Given the description of an element on the screen output the (x, y) to click on. 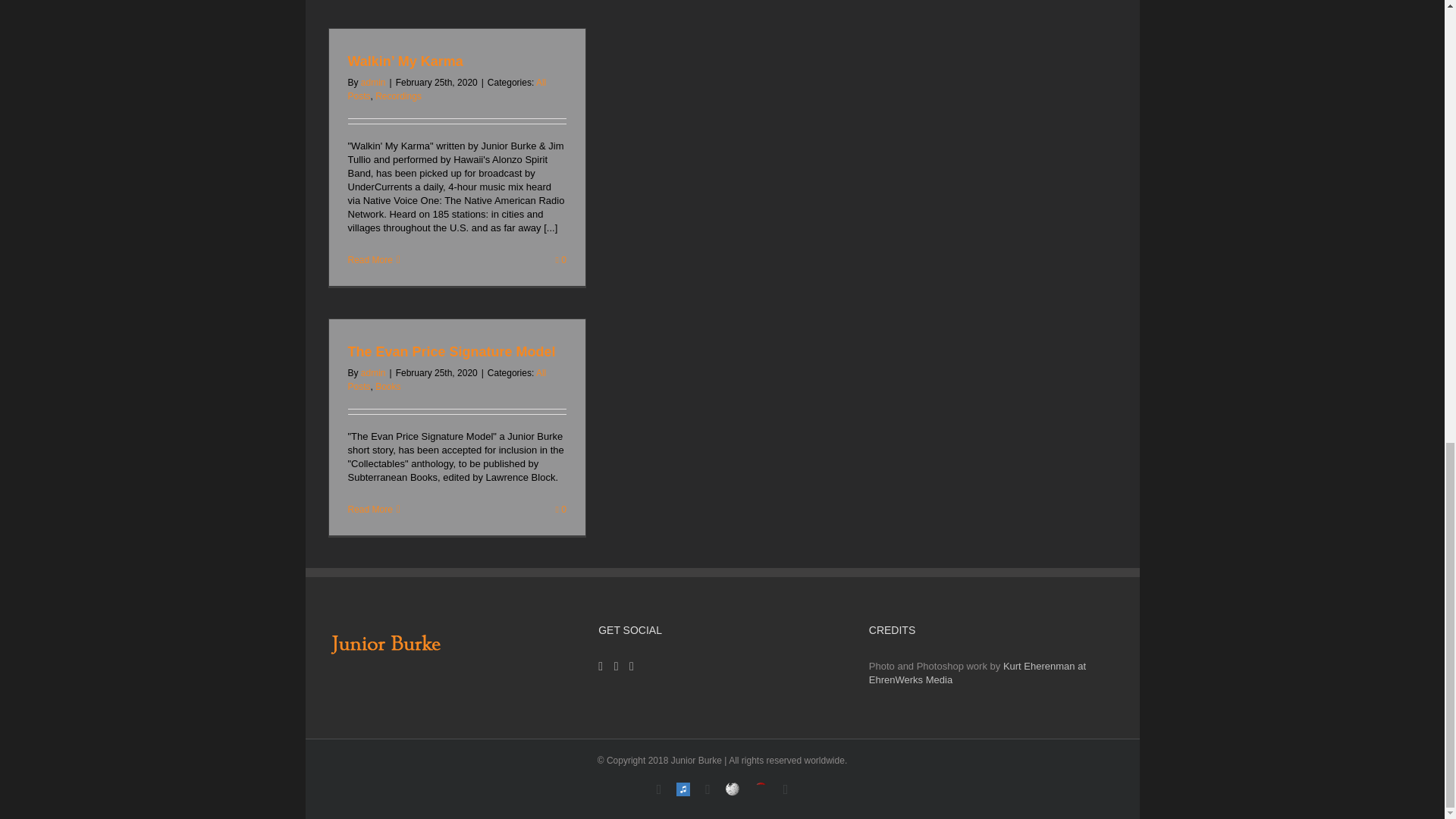
Posts by admin (373, 81)
Wikipedia (732, 785)
Posts by admin (373, 372)
Apple Music (683, 785)
Bongo Boy Records (761, 785)
